Given the description of an element on the screen output the (x, y) to click on. 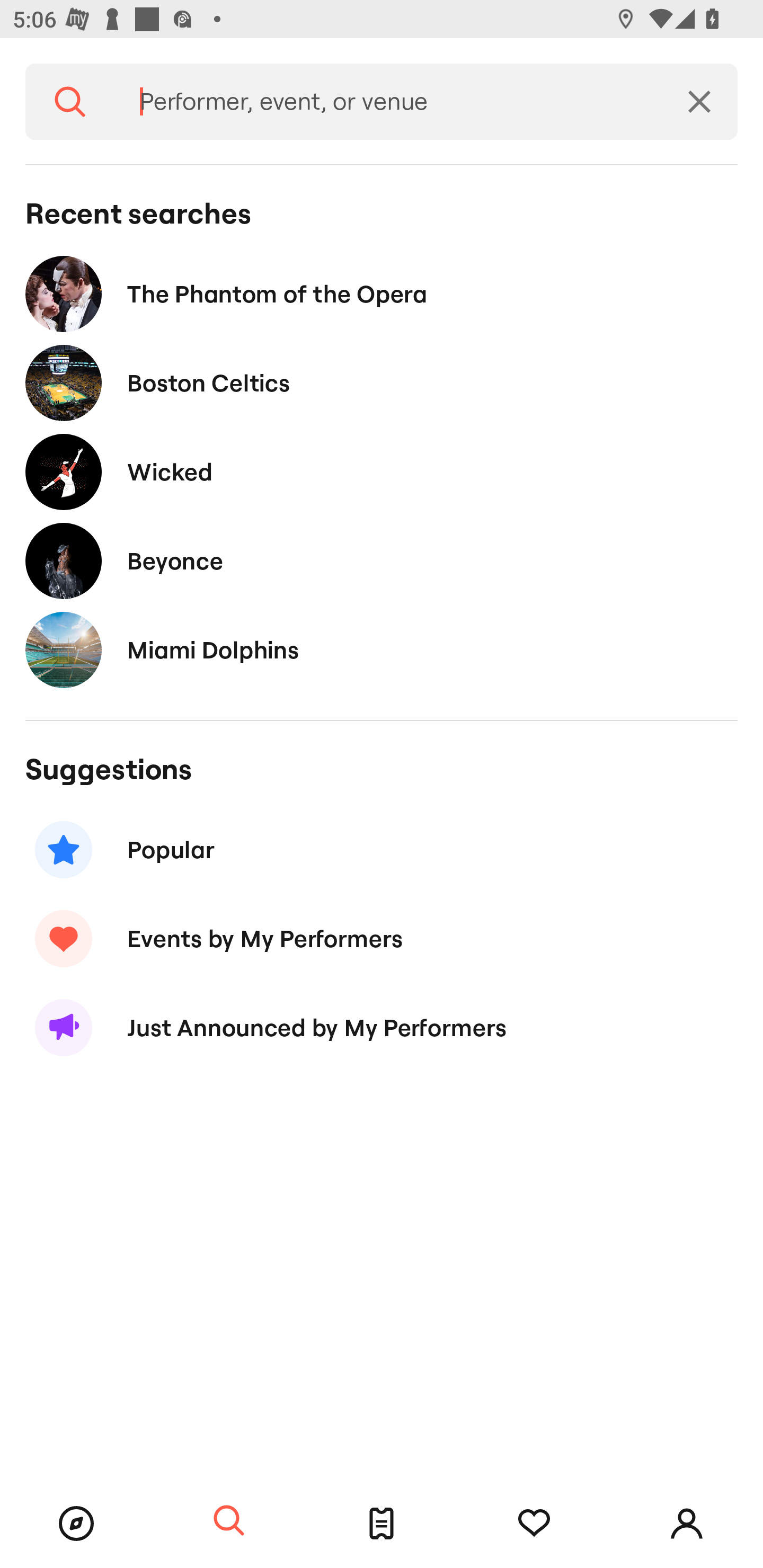
Search (69, 101)
Performer, event, or venue (387, 101)
Clear (699, 101)
The Phantom of the Opera (381, 293)
Boston Celtics (381, 383)
Wicked (381, 471)
Beyonce (381, 560)
Miami Dolphins (381, 649)
Popular (381, 849)
Events by My Performers (381, 938)
Just Announced by My Performers (381, 1027)
Browse (76, 1523)
Search (228, 1521)
Tickets (381, 1523)
Tracking (533, 1523)
Account (686, 1523)
